Given the description of an element on the screen output the (x, y) to click on. 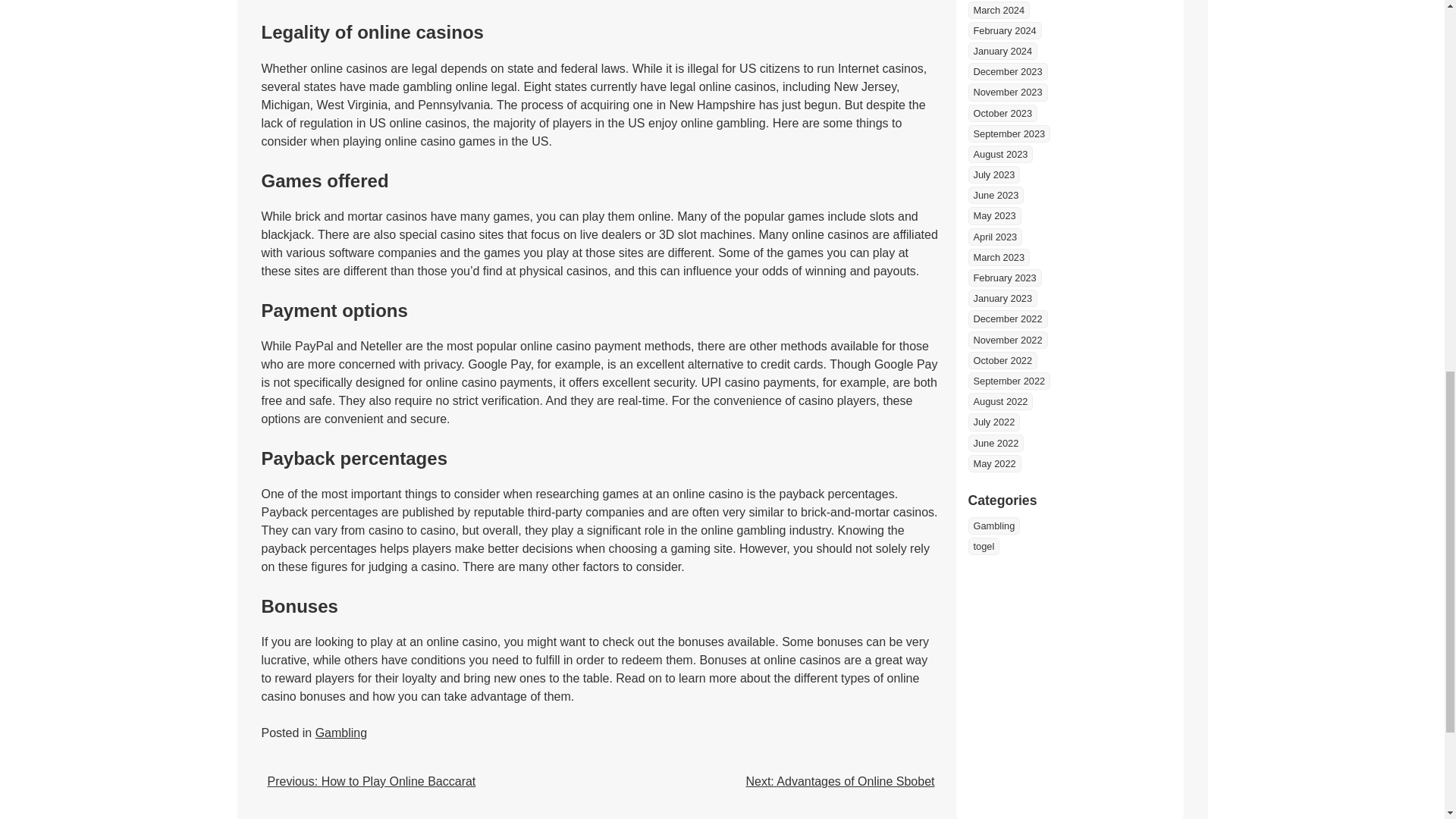
January 2023 (1002, 298)
Gambling (340, 732)
March 2023 (998, 257)
September 2022 (1008, 380)
March 2024 (998, 9)
November 2022 (1007, 339)
October 2023 (1002, 113)
May 2023 (994, 215)
Previous: How to Play Online Baccarat (371, 780)
June 2023 (995, 194)
November 2023 (1007, 91)
April 2023 (995, 236)
January 2024 (1002, 50)
February 2024 (1004, 30)
December 2023 (1007, 71)
